Given the description of an element on the screen output the (x, y) to click on. 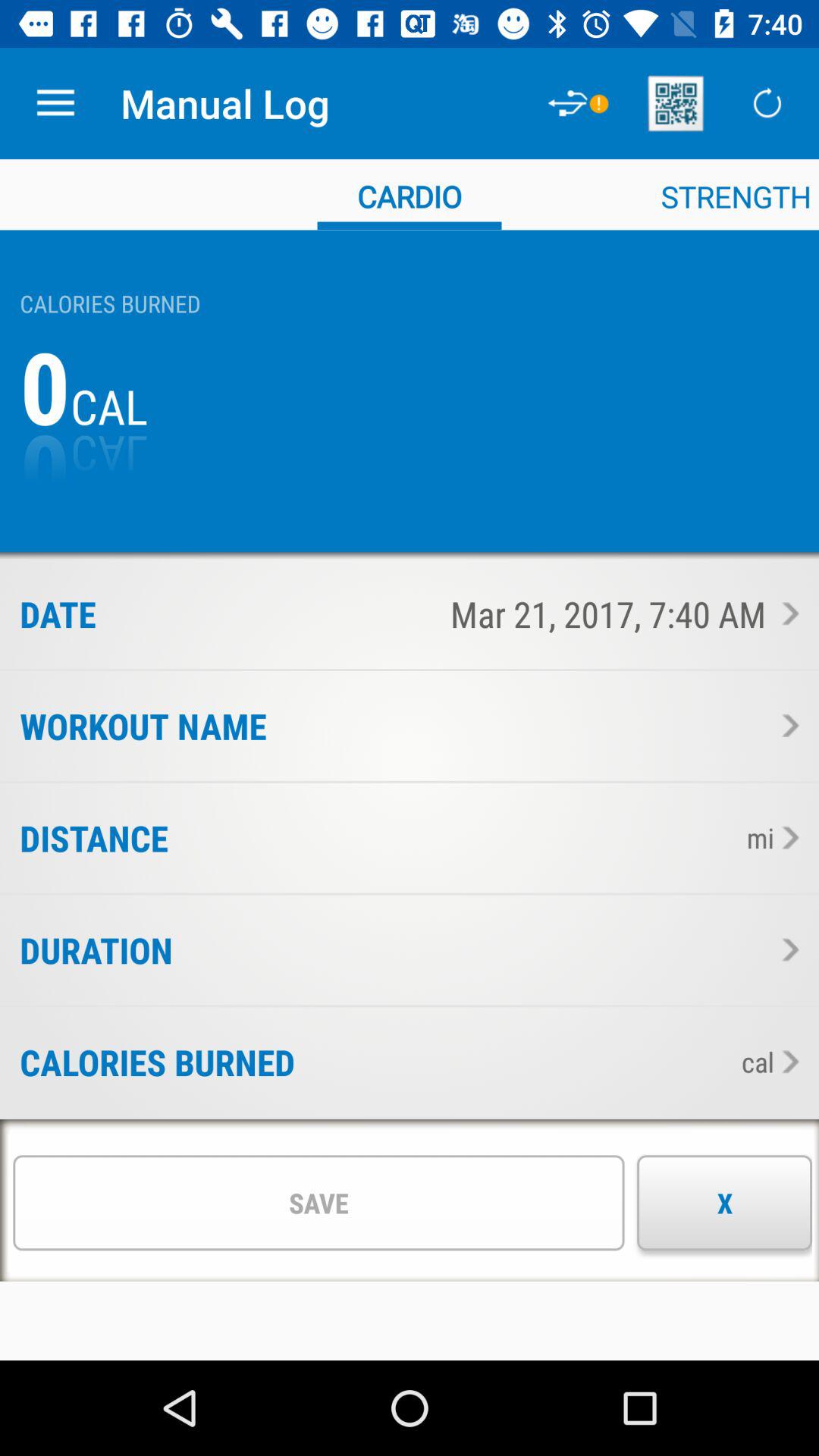
click on the icon which is left to the text manual log (580, 103)
select the text which is right to the date (447, 613)
